Given the description of an element on the screen output the (x, y) to click on. 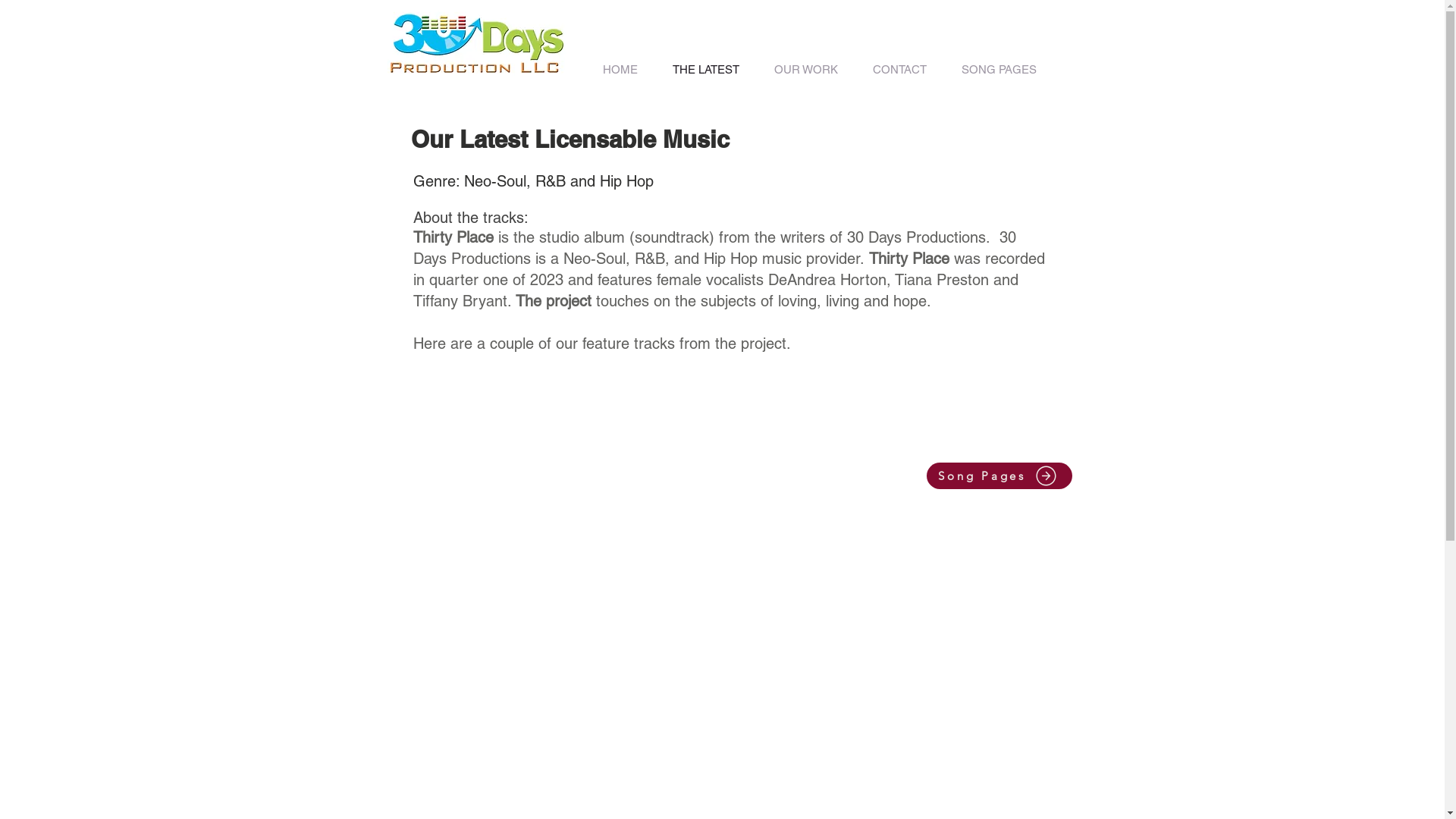
THE LATEST Element type: text (705, 69)
OUR WORK Element type: text (805, 69)
HOME Element type: text (620, 69)
CONTACT Element type: text (899, 69)
Song Pages Element type: text (999, 475)
SONG PAGES Element type: text (999, 69)
